Given the description of an element on the screen output the (x, y) to click on. 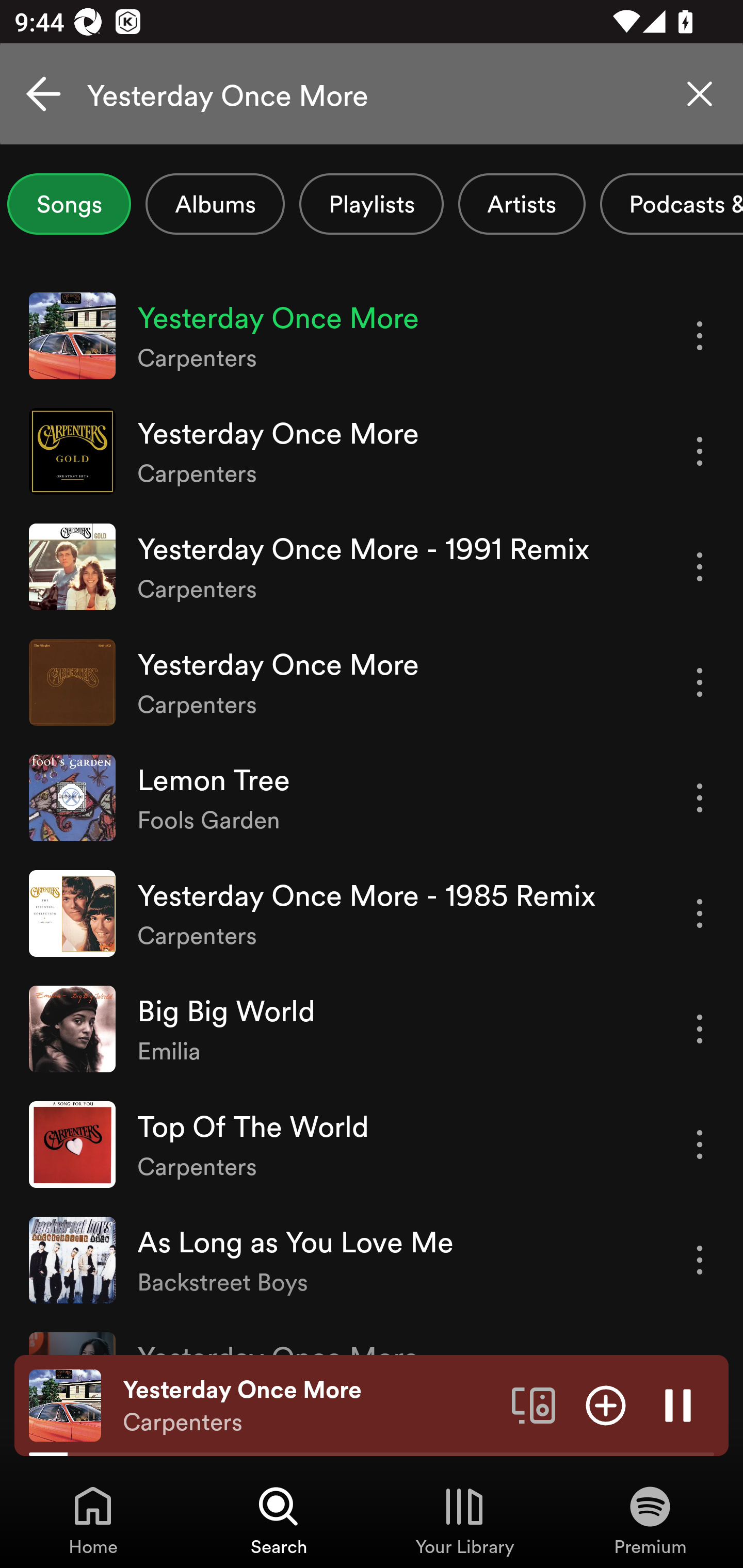
Yesterday Once More (371, 93)
Cancel (43, 93)
Clear search query (699, 93)
Songs (68, 203)
Albums (214, 203)
Playlists (371, 203)
Artists (521, 203)
Podcasts & Shows (671, 203)
More options for song Yesterday Once More (699, 336)
More options for song Yesterday Once More (699, 450)
More options for song Yesterday Once More (699, 682)
More options for song Lemon Tree (699, 798)
More options for song Big Big World (699, 1029)
More options for song Top Of The World (699, 1144)
More options for song As Long as You Love Me (699, 1259)
Yesterday Once More Carpenters (309, 1405)
The cover art of the currently playing track (64, 1404)
Connect to a device. Opens the devices menu (533, 1404)
Add item (605, 1404)
Pause (677, 1404)
Home, Tab 1 of 4 Home Home (92, 1519)
Search, Tab 2 of 4 Search Search (278, 1519)
Your Library, Tab 3 of 4 Your Library Your Library (464, 1519)
Premium, Tab 4 of 4 Premium Premium (650, 1519)
